Given the description of an element on the screen output the (x, y) to click on. 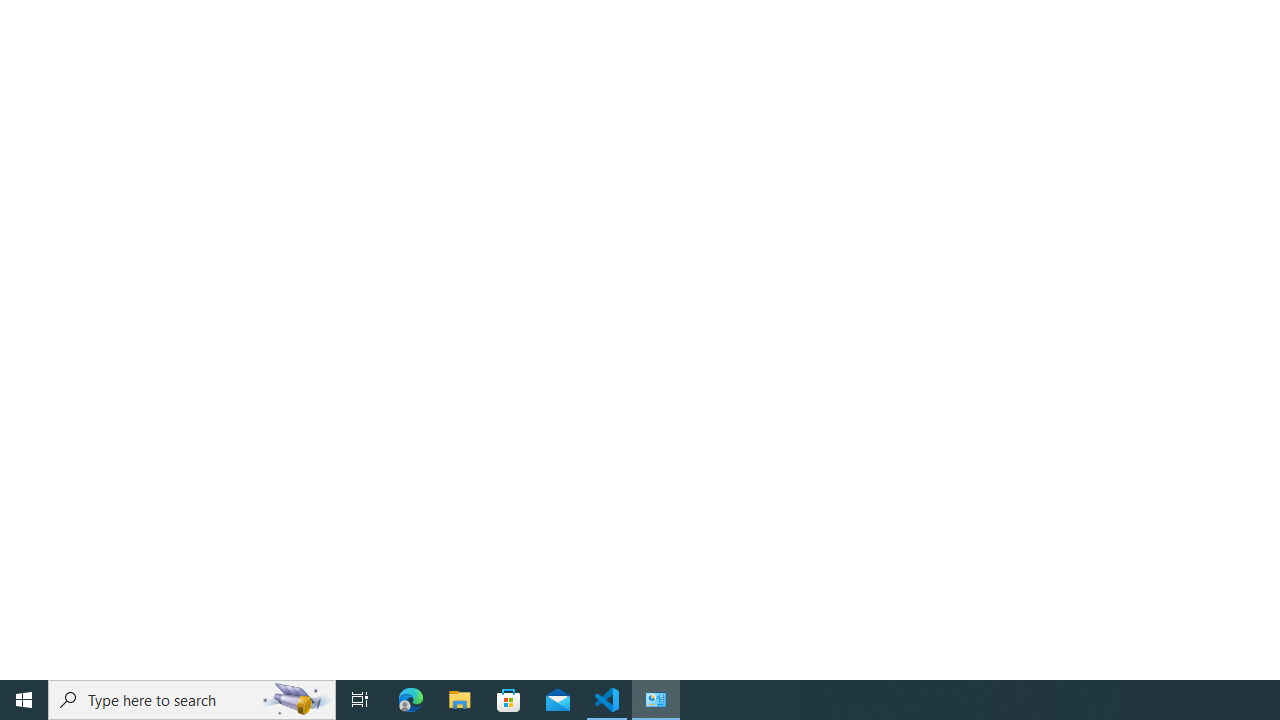
Control Panel - 1 running window (656, 699)
